Given the description of an element on the screen output the (x, y) to click on. 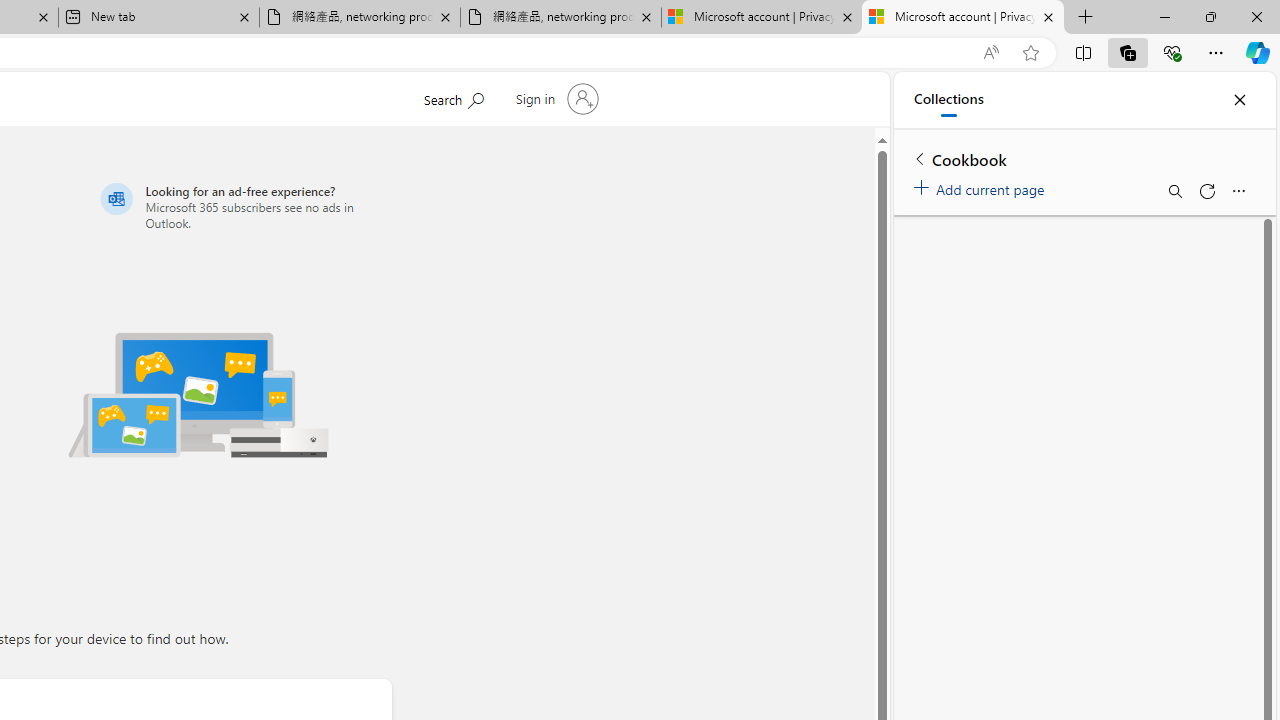
Illustration of multiple devices (198, 394)
Back to list of collections (920, 158)
More options menu (1238, 190)
Search Microsoft.com (452, 97)
Looking for an ad-free experience? (242, 206)
